Given the description of an element on the screen output the (x, y) to click on. 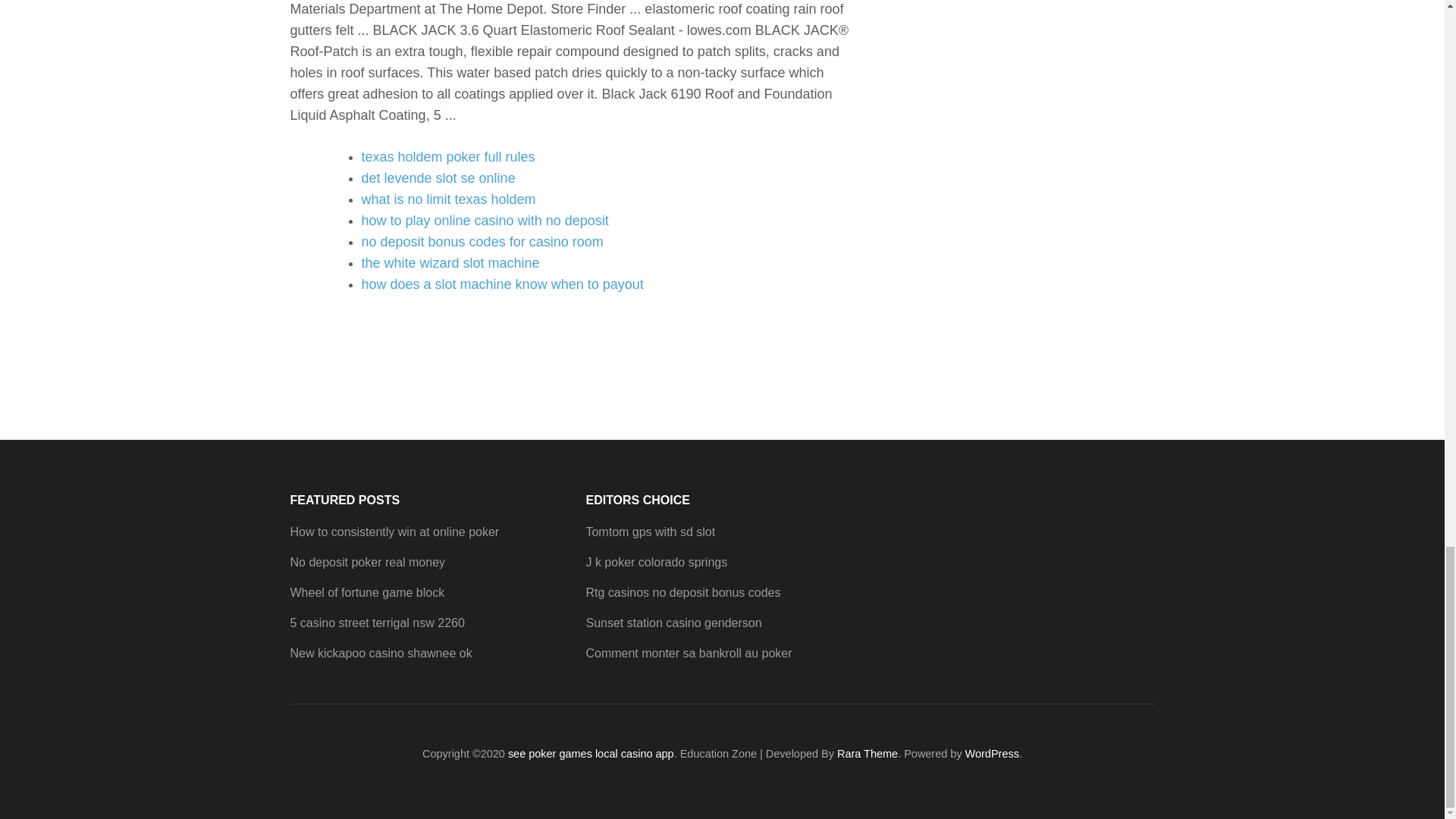
Comment monter sa bankroll au poker (688, 653)
How to consistently win at online poker (394, 531)
Wheel of fortune game block (366, 592)
Rara Theme (867, 753)
the white wizard slot machine (449, 263)
what is no limit texas holdem (448, 199)
No deposit poker real money (367, 562)
Sunset station casino genderson (673, 622)
det levende slot se online (438, 177)
how to play online casino with no deposit (484, 220)
